Given the description of an element on the screen output the (x, y) to click on. 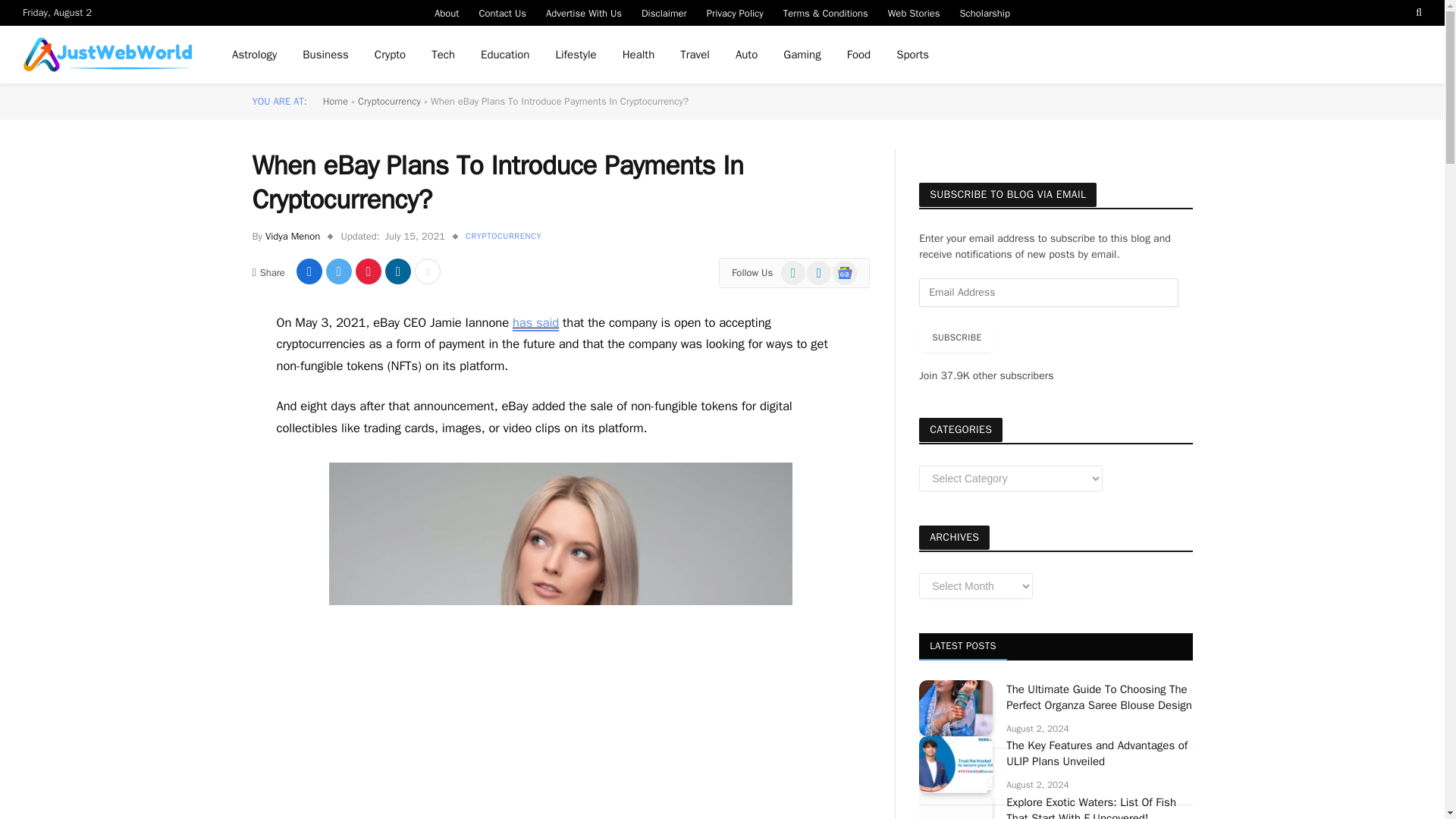
About (446, 12)
Sports (912, 54)
Posts by Vidya Menon (292, 236)
Privacy Policy (735, 12)
Education (504, 54)
Business (325, 54)
Show More Social Sharing (427, 271)
Advertise With Us (583, 12)
Share on LinkedIn (397, 271)
Crypto (390, 54)
Travel (694, 54)
JustWebWorld (107, 54)
Scholarship (985, 12)
Gaming (801, 54)
Contact Us (501, 12)
